Given the description of an element on the screen output the (x, y) to click on. 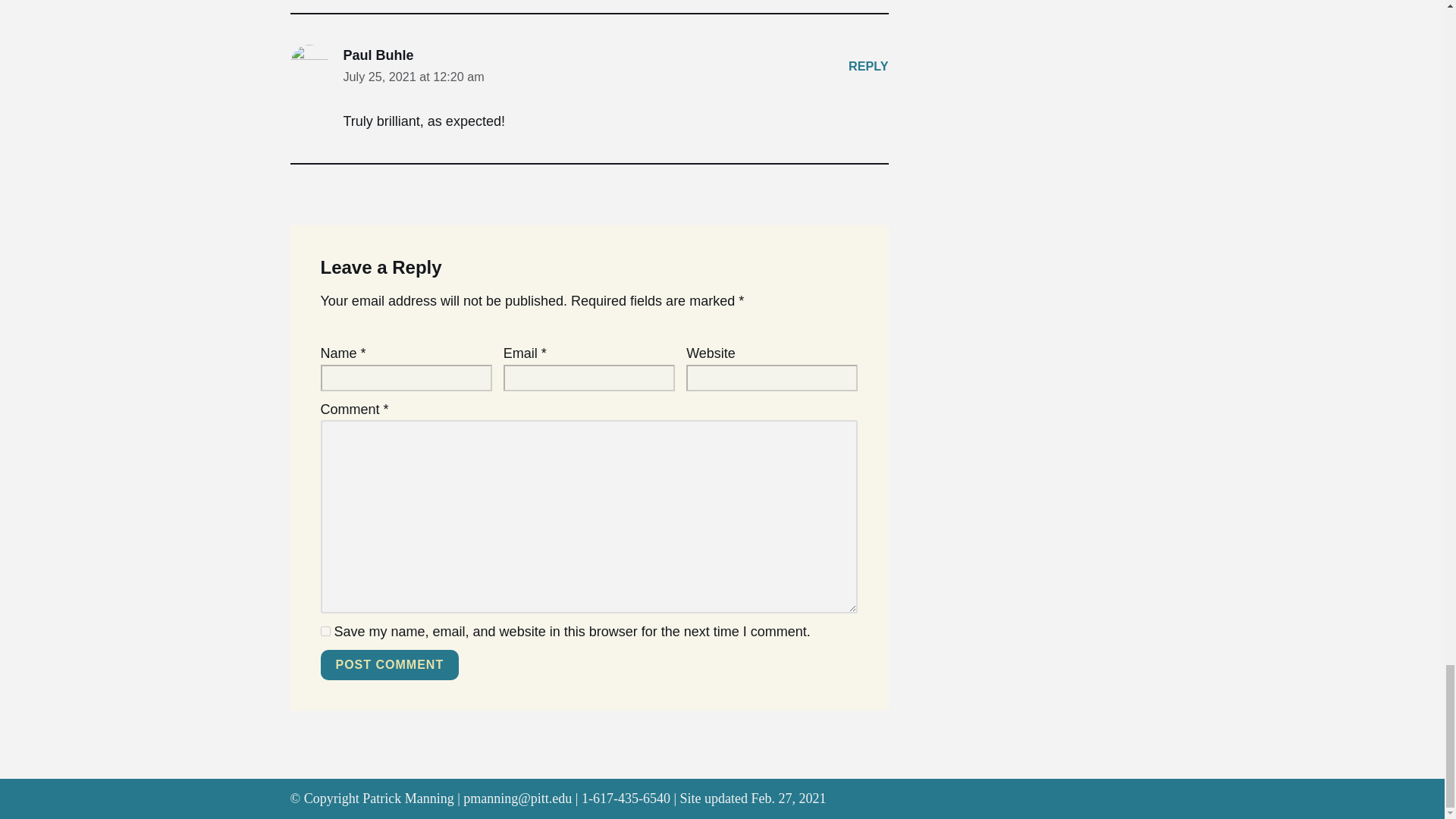
yes (325, 631)
Post Comment (389, 665)
